Given the description of an element on the screen output the (x, y) to click on. 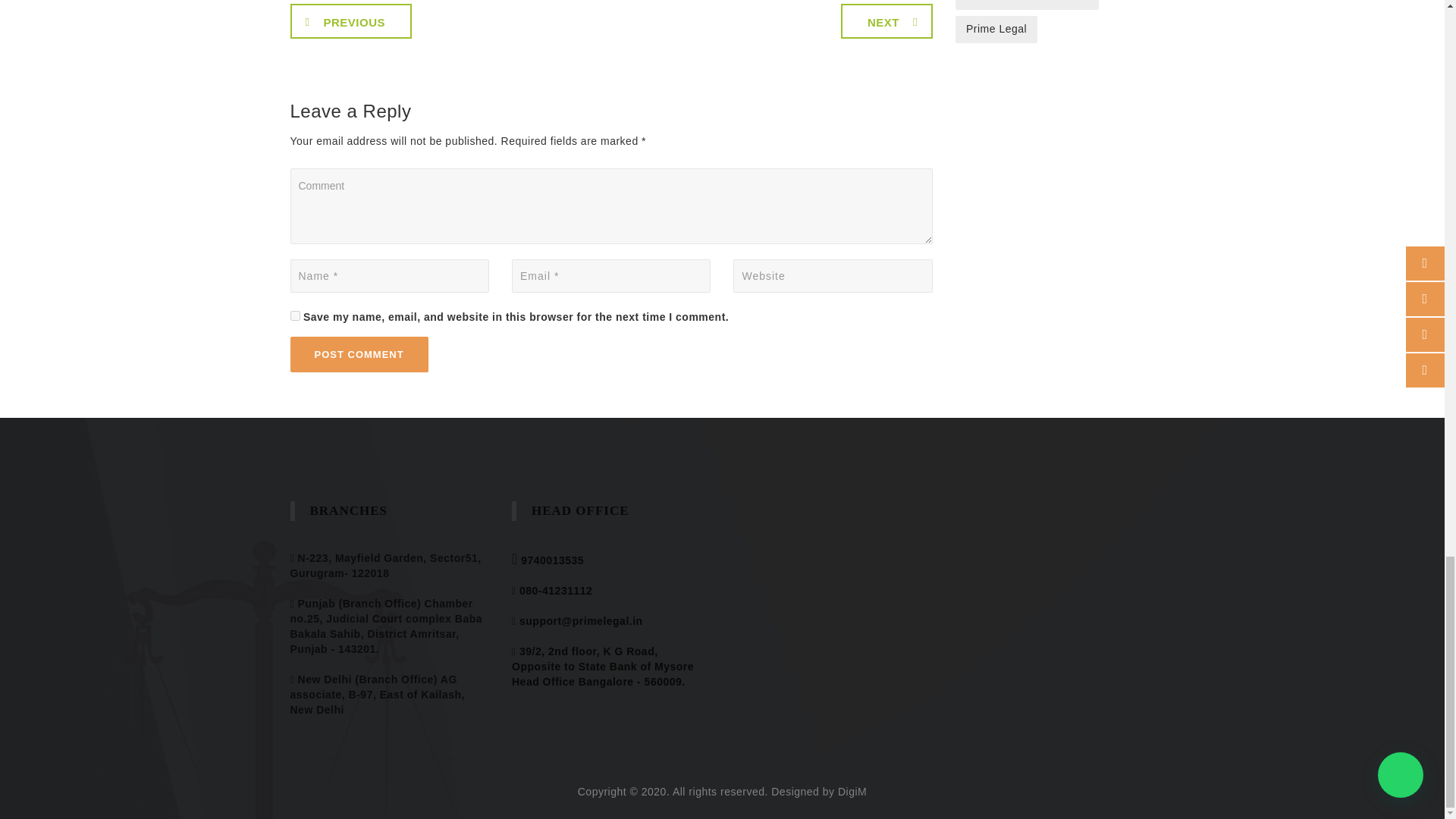
yes (294, 316)
Post Comment (358, 354)
Post Comment (358, 354)
NEXT (887, 21)
PREVIOUS (350, 21)
